Given the description of an element on the screen output the (x, y) to click on. 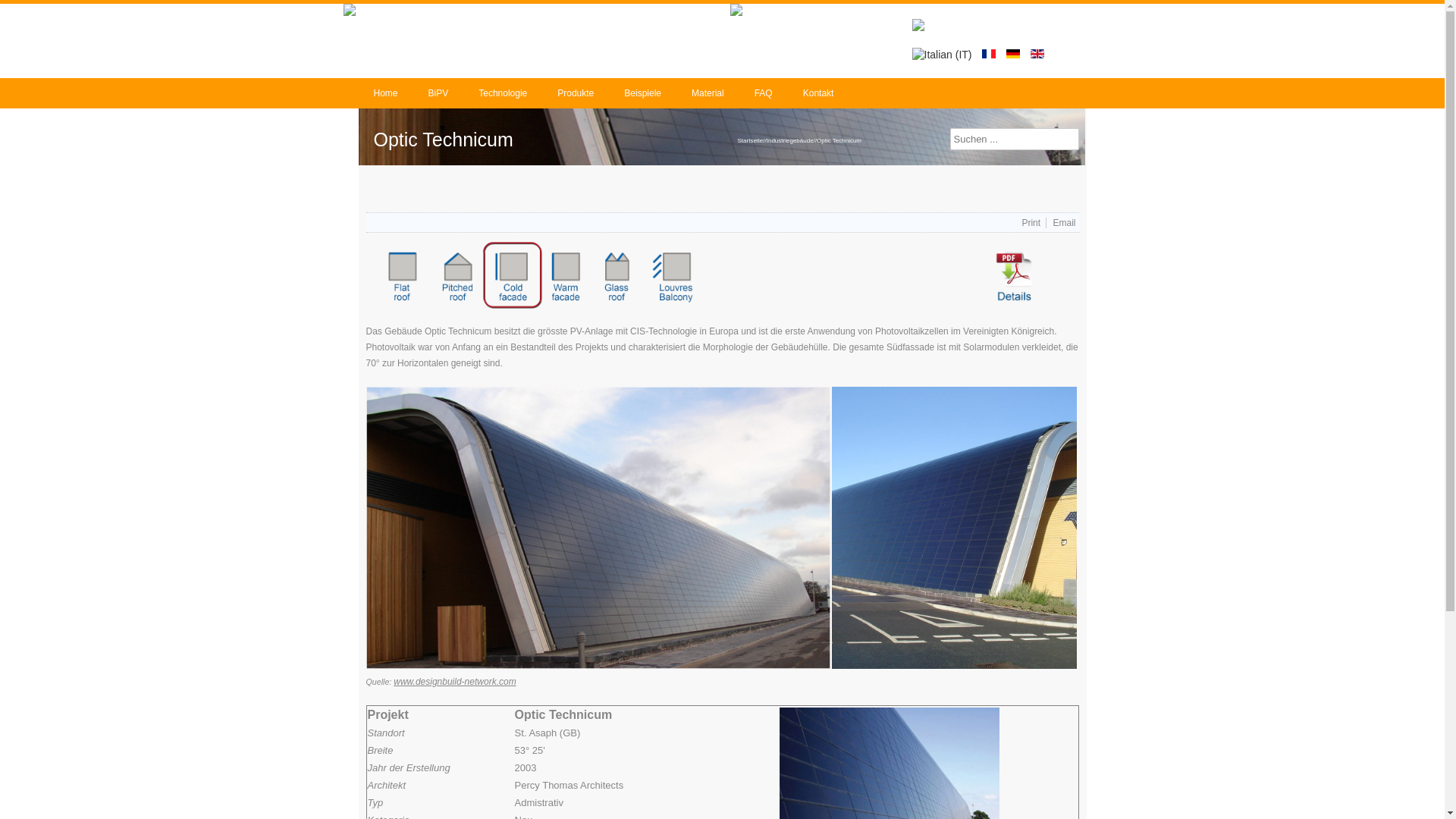
Kontakt Element type: text (818, 93)
FAQ Element type: text (763, 93)
Deutsch Element type: hover (1012, 53)
www.designbuild-network.com Element type: text (454, 681)
Technologie Element type: text (502, 93)
Print Element type: text (1031, 222)
Email Element type: text (1063, 222)
Home Element type: text (384, 93)
Produkte Element type: text (575, 93)
BiPV Element type: text (438, 93)
Material Element type: text (707, 93)
English (UK) Element type: hover (1037, 53)
Startseite Element type: text (749, 140)
Beispiele Element type: text (642, 93)
Italian (IT) Element type: hover (941, 54)
